Given the description of an element on the screen output the (x, y) to click on. 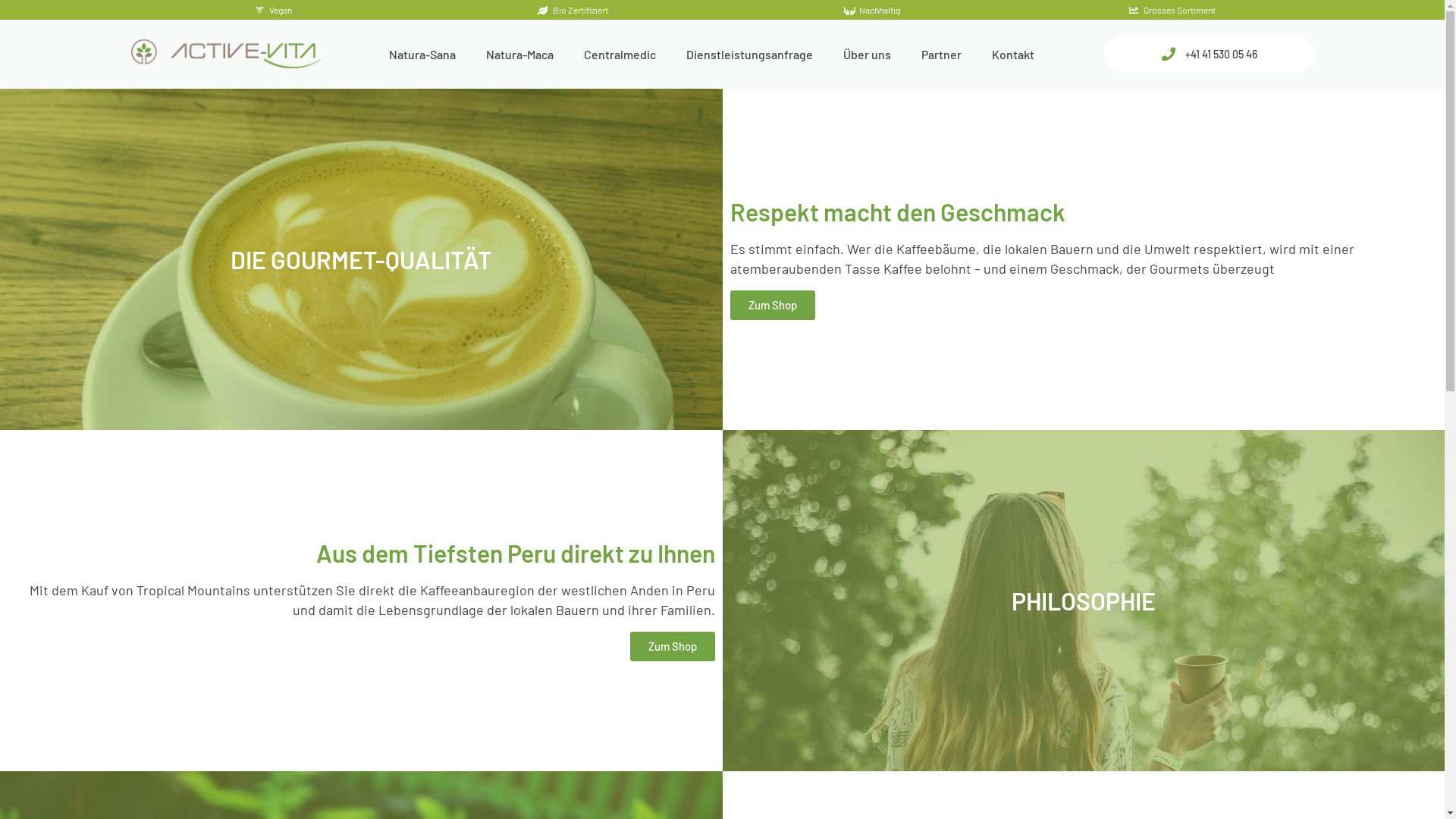
Centralmedic Element type: text (619, 54)
Kontakt Element type: text (1012, 54)
Zum Shop Element type: text (671, 645)
Natura-Sana Element type: text (421, 54)
Natura-Maca Element type: text (519, 54)
Zum Shop Element type: text (771, 304)
+41 41 530 05 46 Element type: text (1209, 54)
Dienstleistungsanfrage Element type: text (749, 54)
Partner Element type: text (941, 54)
